Given the description of an element on the screen output the (x, y) to click on. 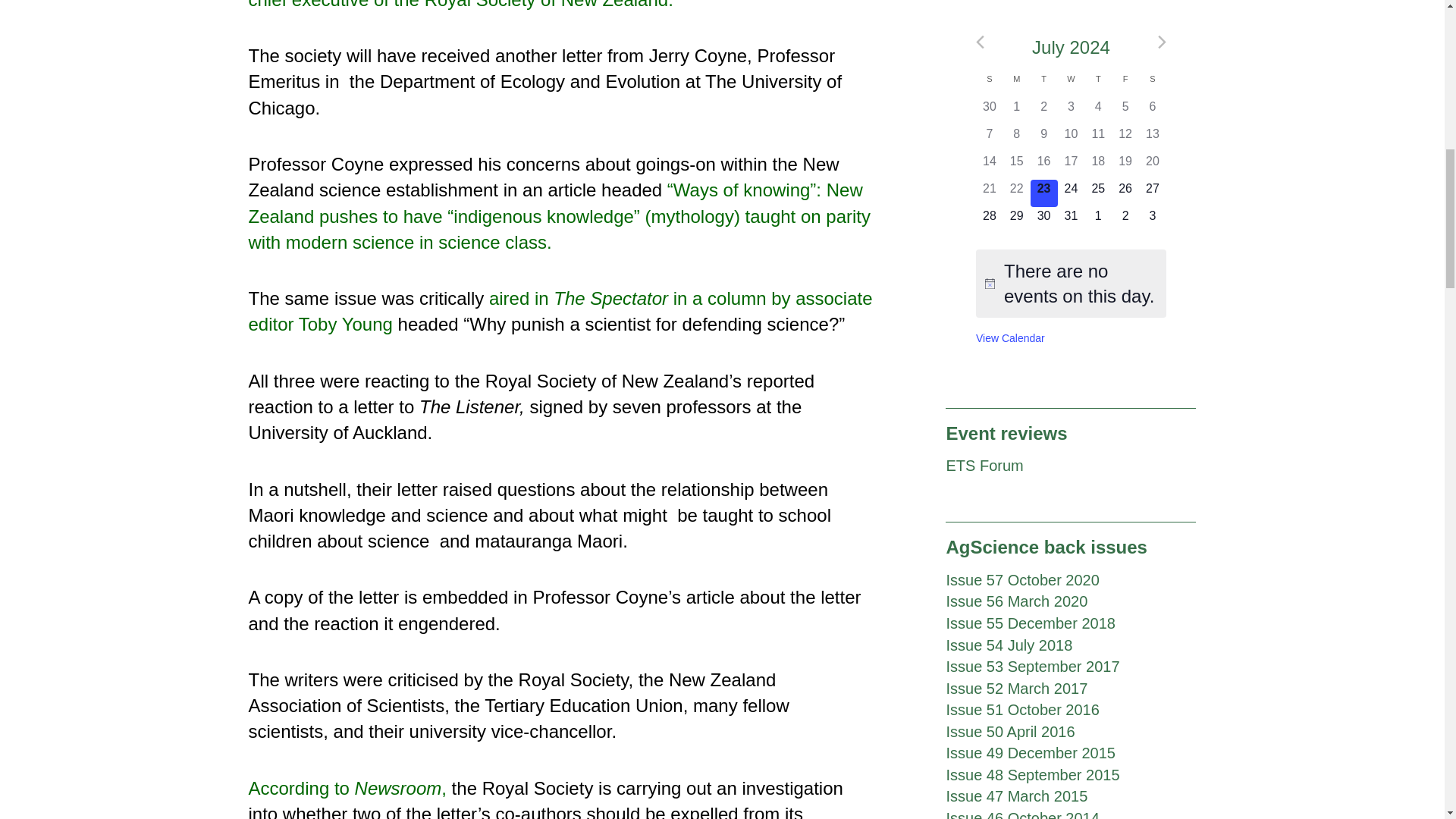
View more events. (1010, 338)
